Given the description of an element on the screen output the (x, y) to click on. 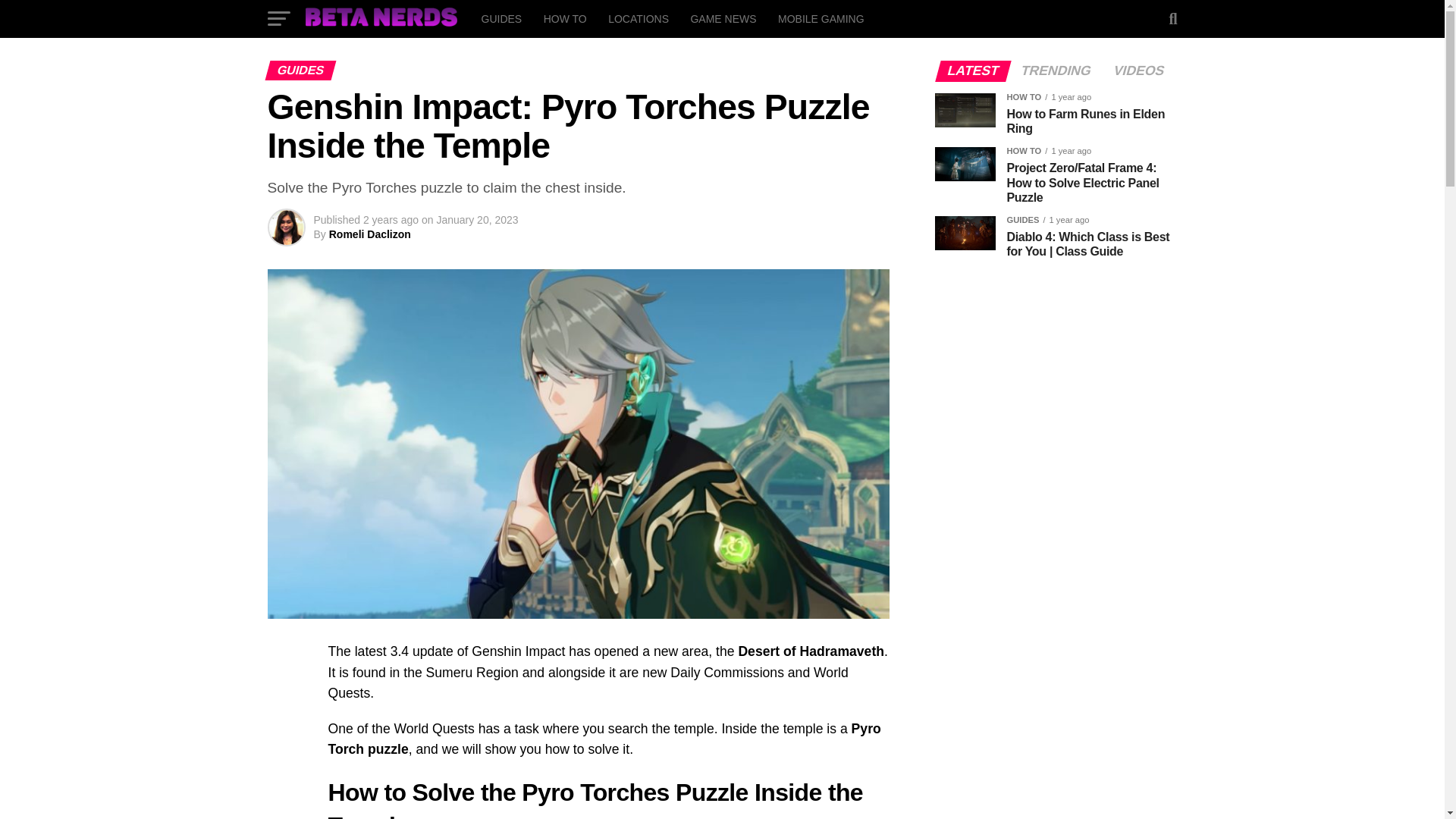
GAME NEWS (723, 18)
MOBILE GAMING (820, 18)
Romeli Daclizon (369, 234)
Posts by Romeli Daclizon (369, 234)
LOCATIONS (638, 18)
GUIDES (501, 18)
HOW TO (564, 18)
